Given the description of an element on the screen output the (x, y) to click on. 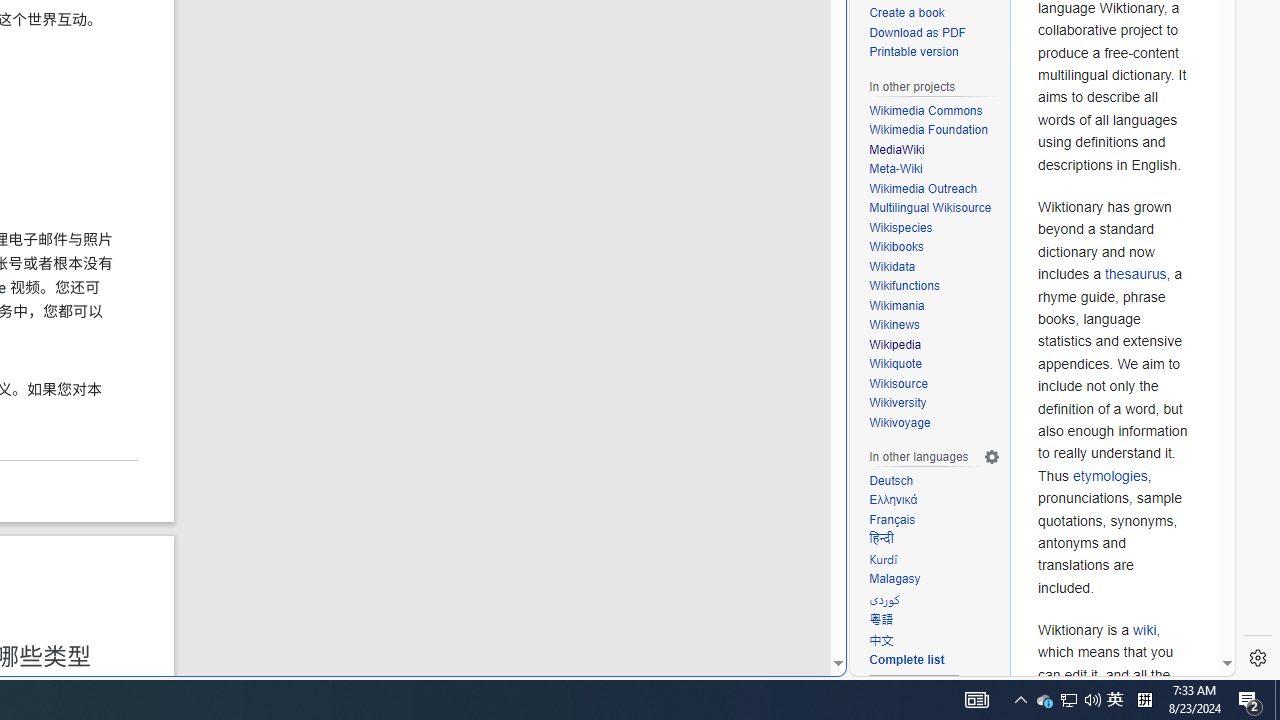
Complete list (906, 660)
163 more (915, 690)
Wikiversity (934, 403)
Wikimedia Commons (934, 110)
Wikibooks (934, 247)
Wikimania (897, 305)
Wikispecies (934, 228)
Wikiversity (897, 403)
Multilingual Wikisource (934, 208)
Wikidata (934, 267)
